Given the description of an element on the screen output the (x, y) to click on. 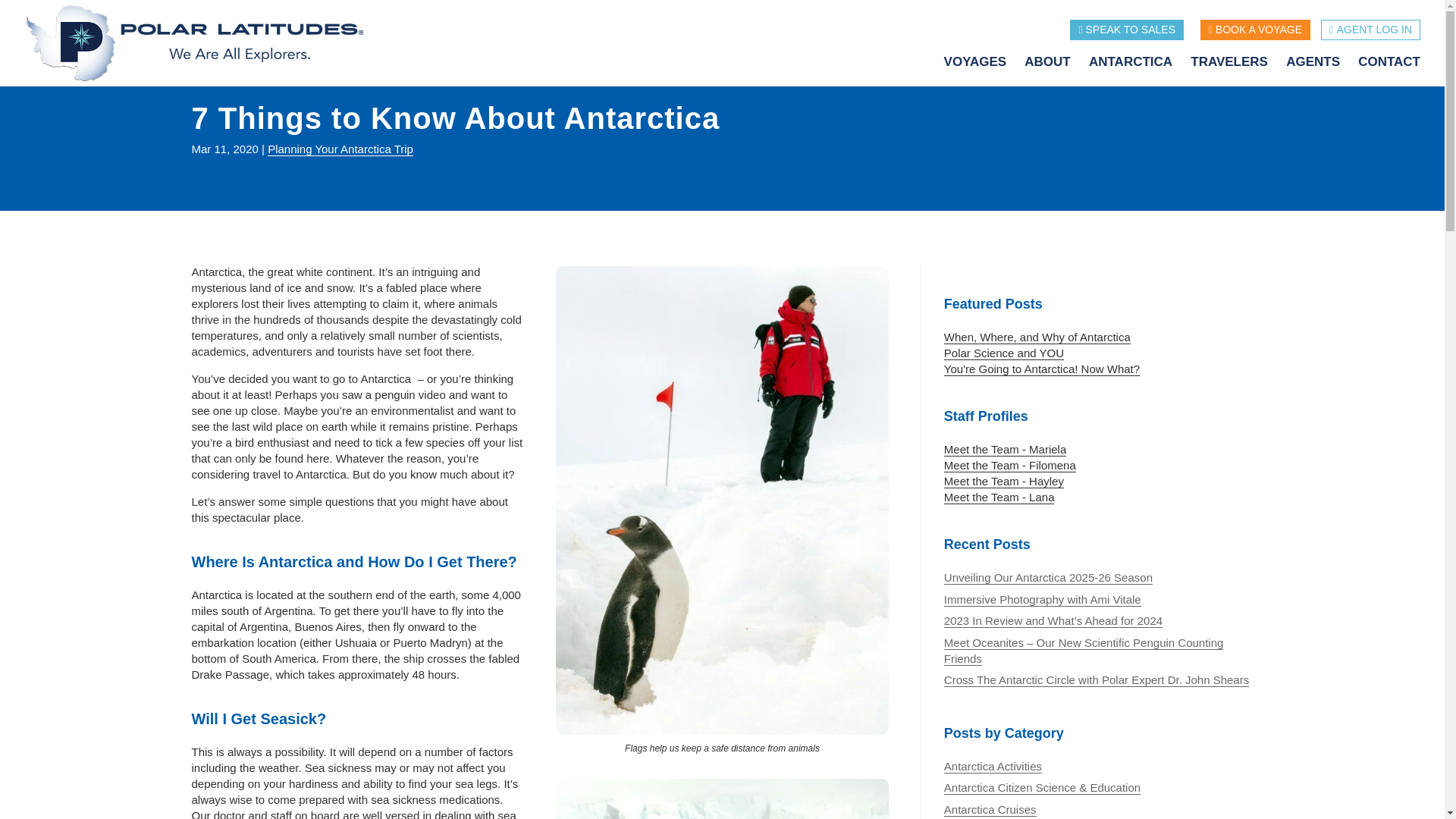
ABOUT (1054, 71)
AGENTS (1320, 71)
AGENT LOG IN (1370, 29)
Cierva Cove Leopard Seal Antarctica Polar Latitudes (722, 798)
SPEAK TO SALES (1126, 29)
BOOK A VOYAGE (1254, 29)
ANTARCTICA (1138, 71)
TRAVELERS (1236, 71)
VOYAGES (982, 71)
